Given the description of an element on the screen output the (x, y) to click on. 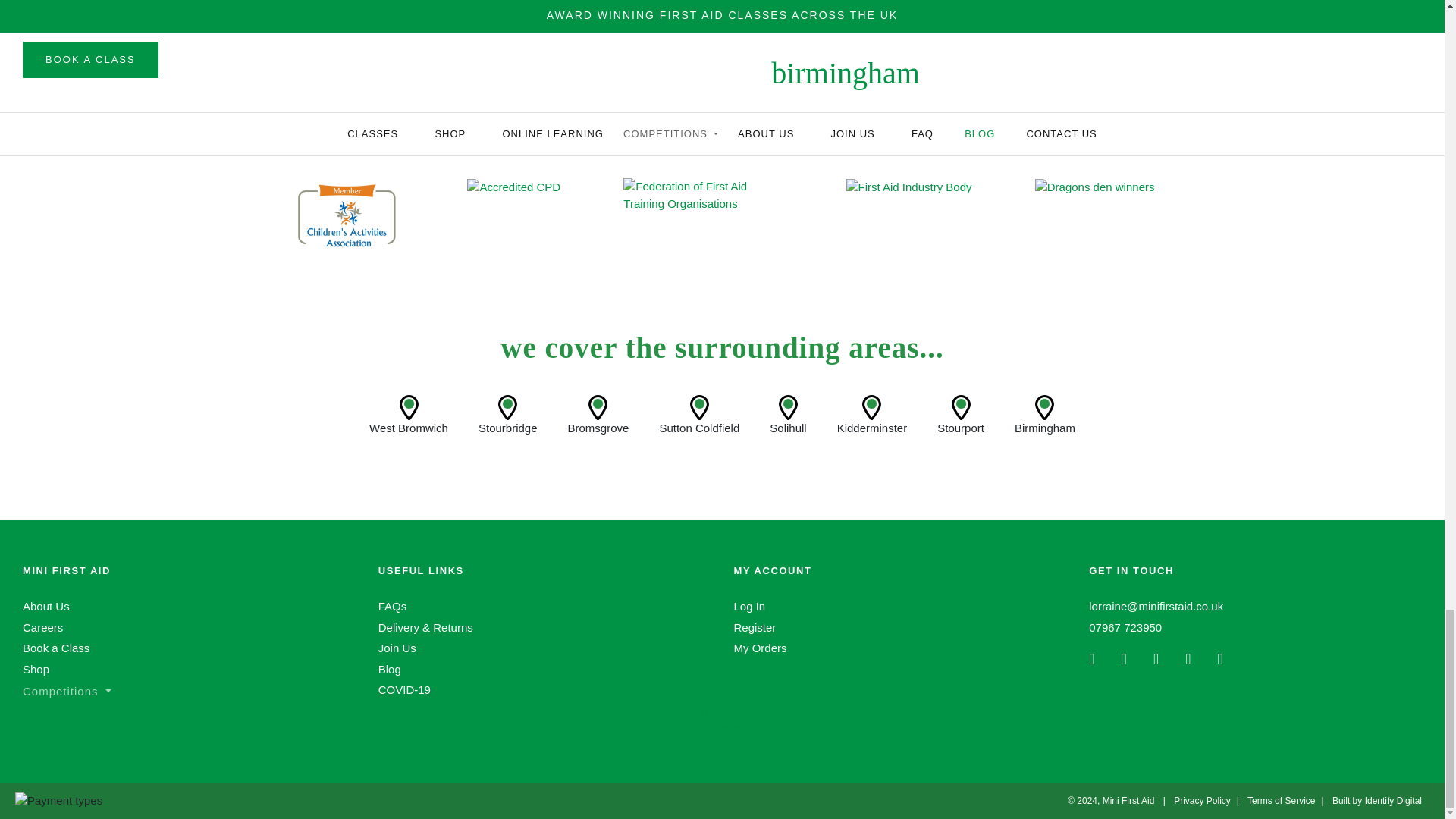
Careers (42, 626)
Competitions (67, 690)
Log In (749, 605)
SUBSCRIBE (911, 60)
Book a Class (55, 647)
About Us (46, 605)
FAQs (392, 605)
Join Us (397, 647)
Shop (36, 668)
Blog (389, 668)
